Given the description of an element on the screen output the (x, y) to click on. 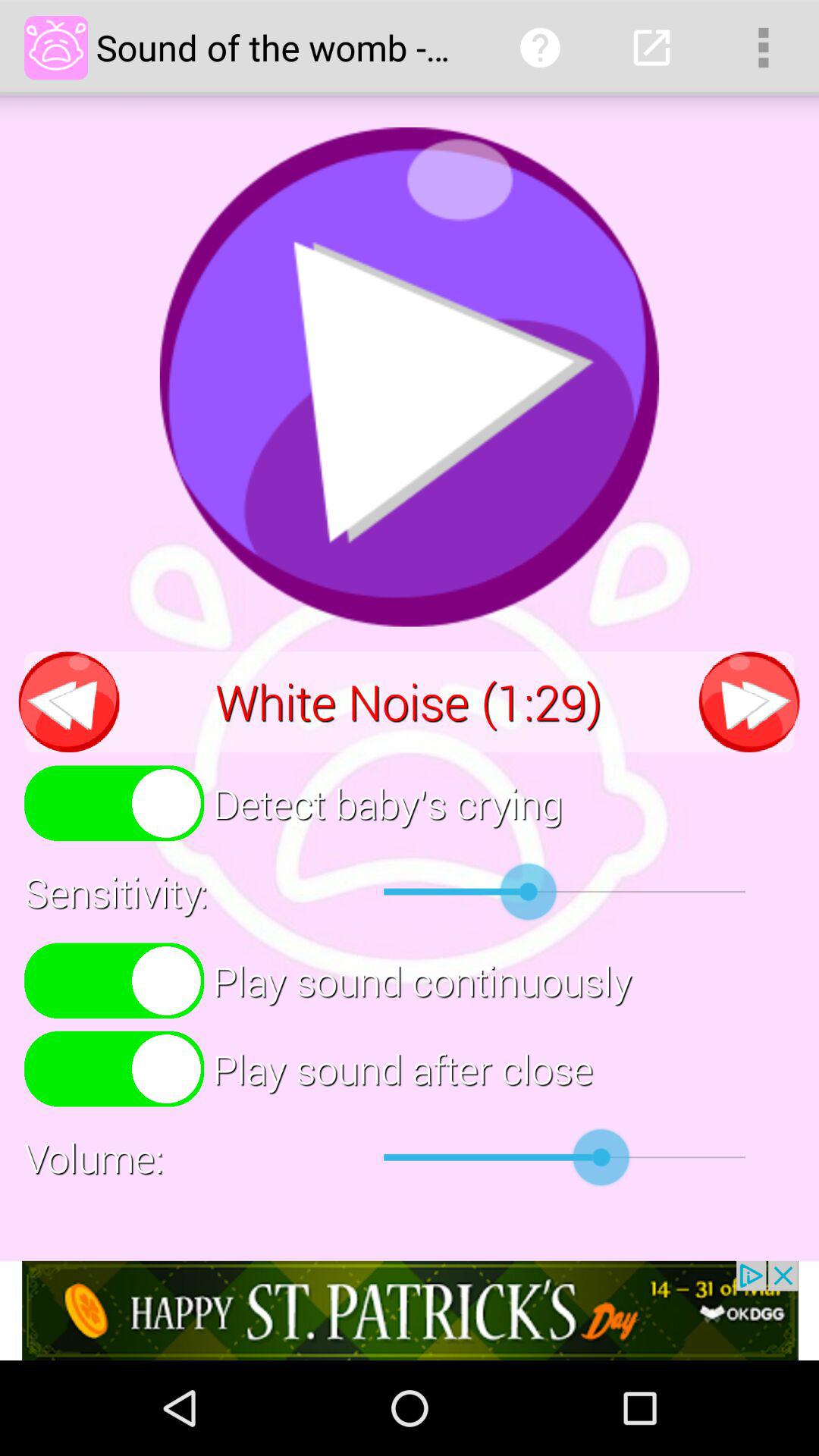
go back (68, 701)
